Given the description of an element on the screen output the (x, y) to click on. 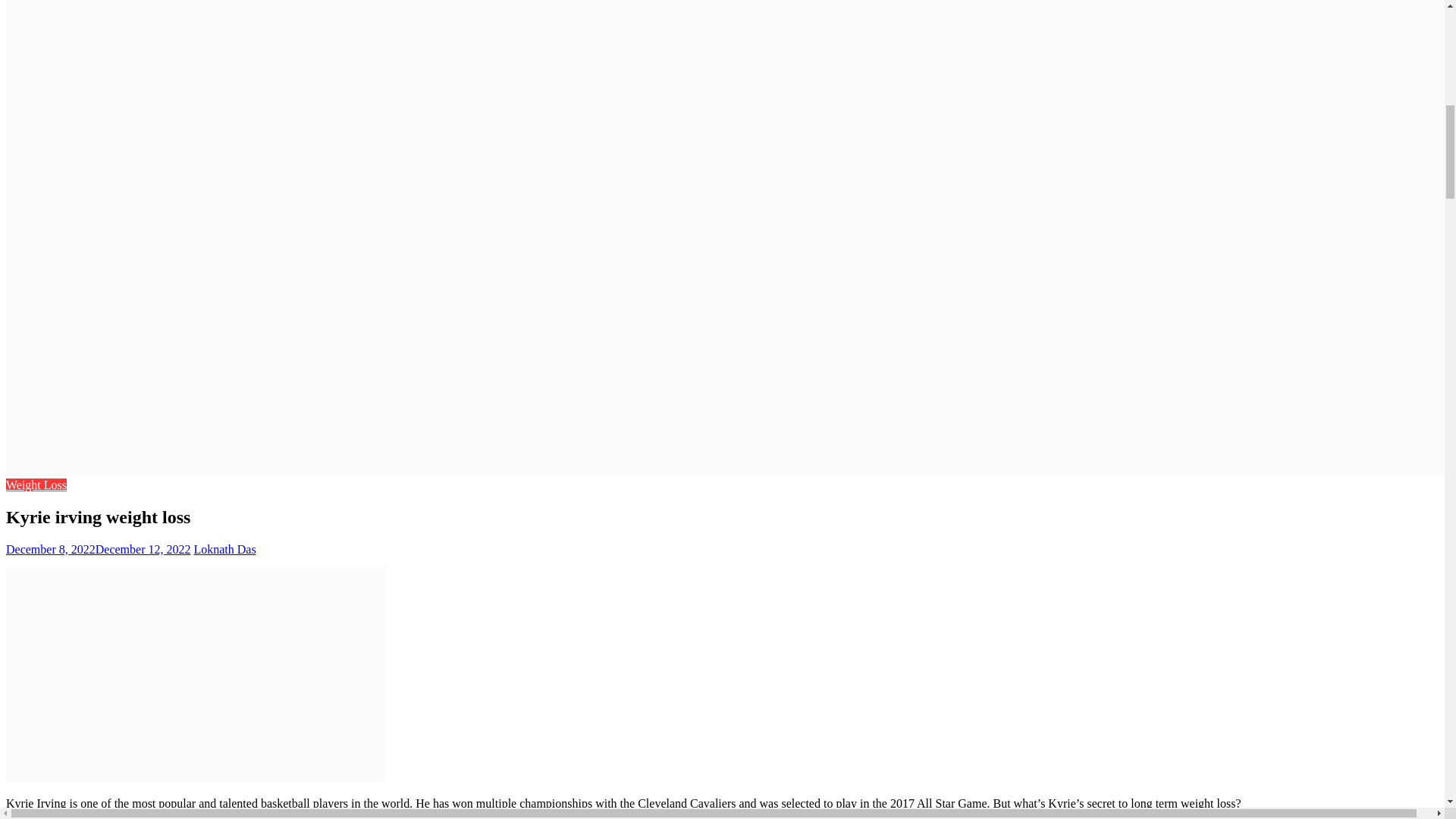
December 8, 2022December 12, 2022 (97, 549)
Weight Loss (35, 484)
Loknath Das (224, 549)
